Given the description of an element on the screen output the (x, y) to click on. 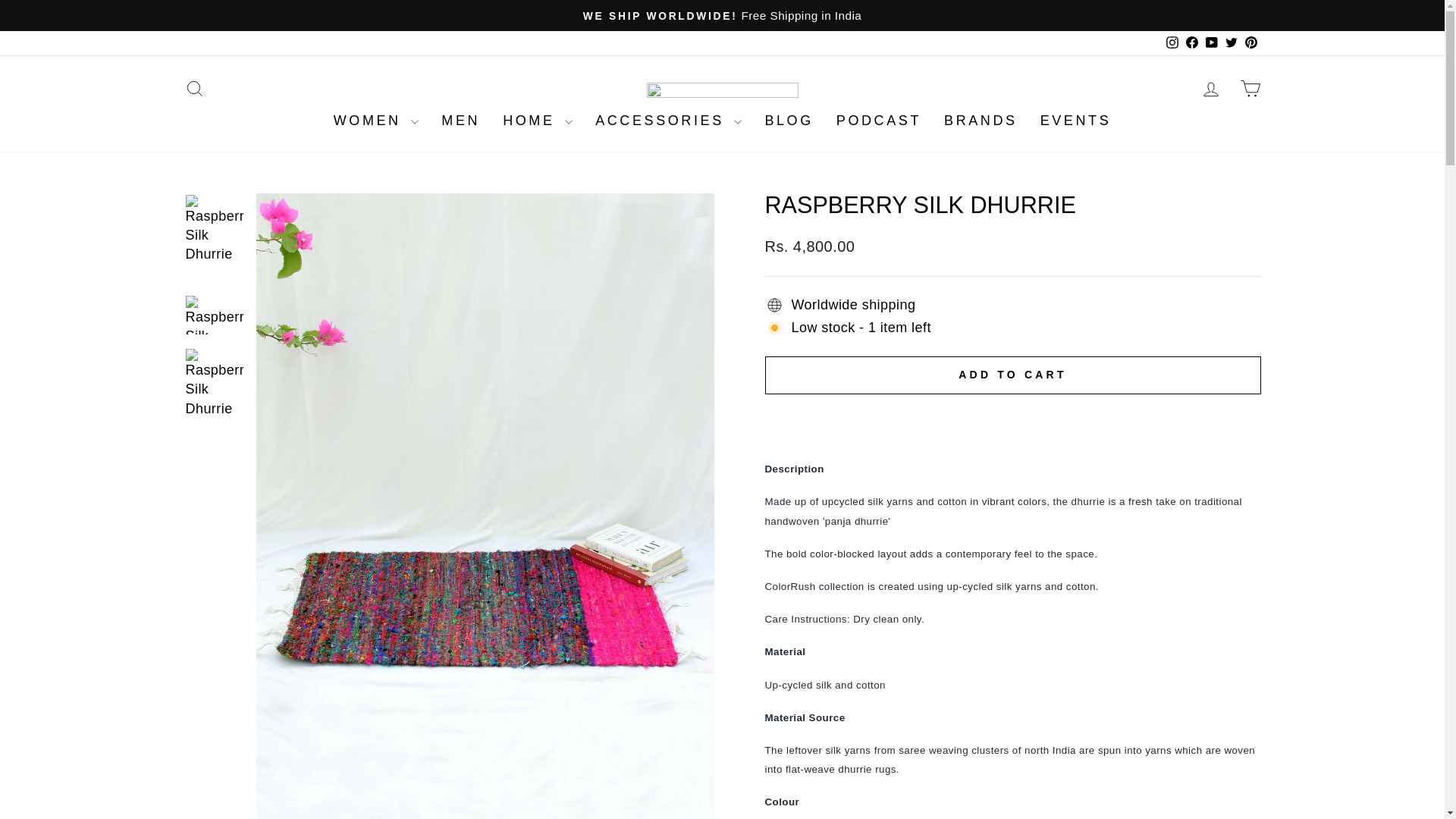
twitter (1231, 42)
ACCOUNT (1210, 88)
instagram (1171, 42)
ICON-SEARCH (194, 88)
